Given the description of an element on the screen output the (x, y) to click on. 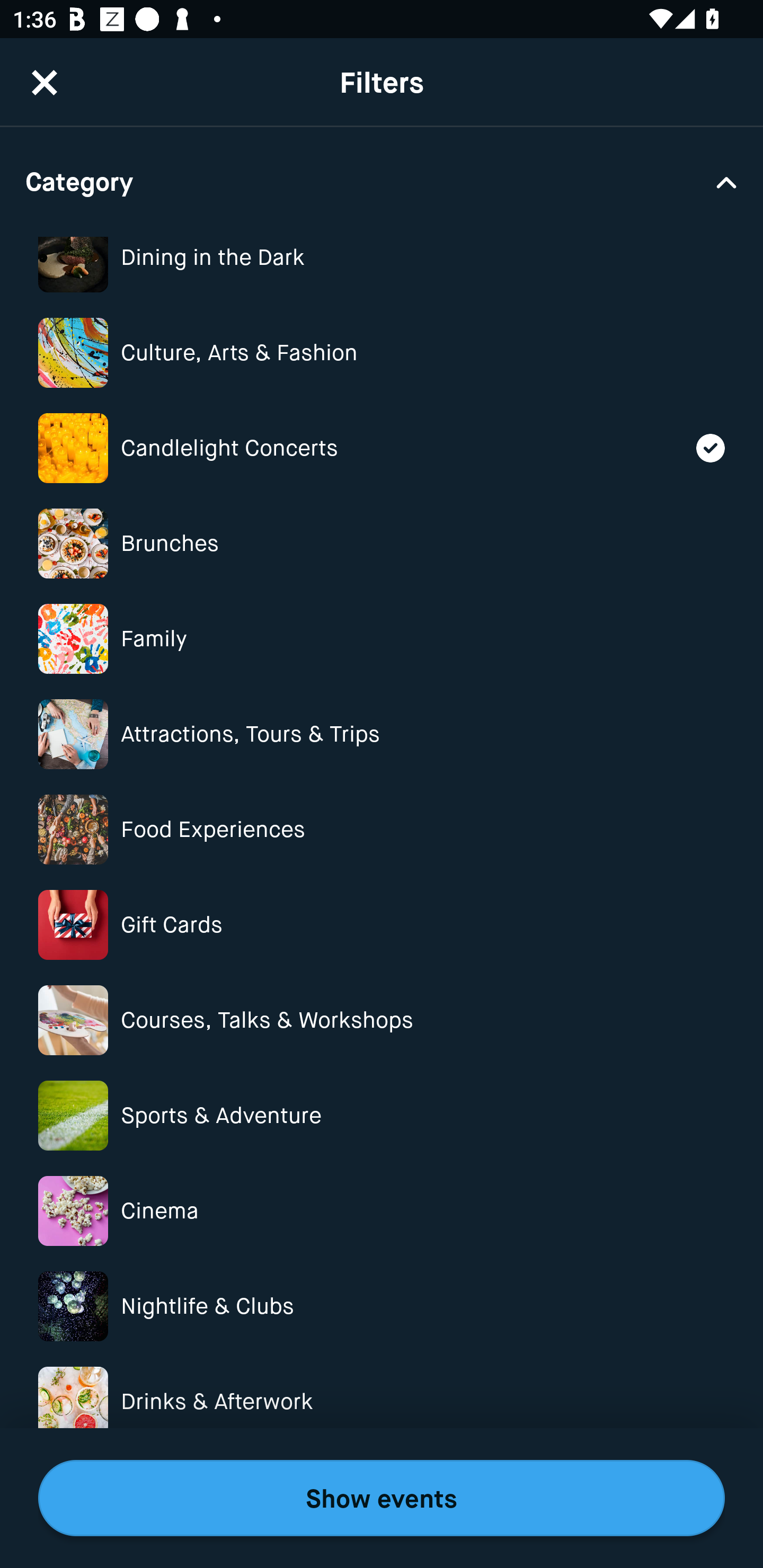
CloseButton (44, 80)
Category Image Dining in the Dark (381, 266)
Category Image Culture, Arts & Fashion (381, 352)
Category Image Candlelight Concerts Selected Icon (381, 447)
Category Image Brunches (381, 542)
Category Image Family (381, 638)
Category Image Attractions, Tours & Trips (381, 734)
Category Image Food Experiences (381, 829)
Category Image Gift Cards (381, 924)
Category Image Courses, Talks & Workshops (381, 1019)
Category Image Sports & Adventure (381, 1115)
Category Image Cinema (381, 1210)
Category Image Nightlife & Clubs (381, 1305)
Category Image Drinks & Afterwork (381, 1401)
